Given the description of an element on the screen output the (x, y) to click on. 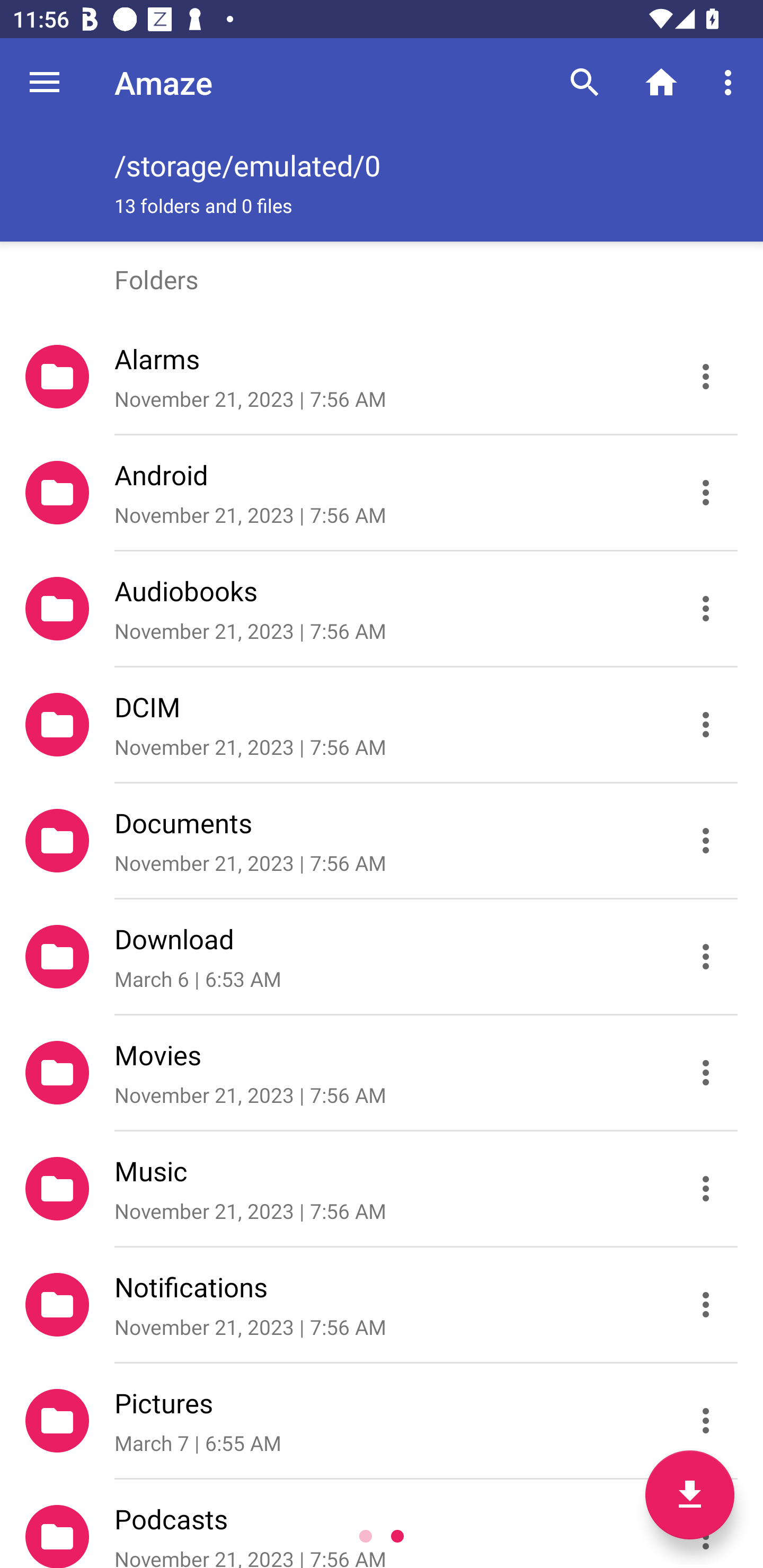
Navigate up (44, 82)
Search (585, 81)
Home (661, 81)
More options (731, 81)
Alarms November 21, 2023 | 7:56 AM (381, 376)
Android November 21, 2023 | 7:56 AM (381, 492)
Audiobooks November 21, 2023 | 7:56 AM (381, 608)
DCIM November 21, 2023 | 7:56 AM (381, 724)
Documents November 21, 2023 | 7:56 AM (381, 841)
Download March 6 | 6:53 AM (381, 957)
Movies November 21, 2023 | 7:56 AM (381, 1073)
Music November 21, 2023 | 7:56 AM (381, 1189)
Notifications November 21, 2023 | 7:56 AM (381, 1305)
Pictures March 7 | 6:55 AM (381, 1421)
Podcasts November 21, 2023 | 7:56 AM (381, 1524)
